Given the description of an element on the screen output the (x, y) to click on. 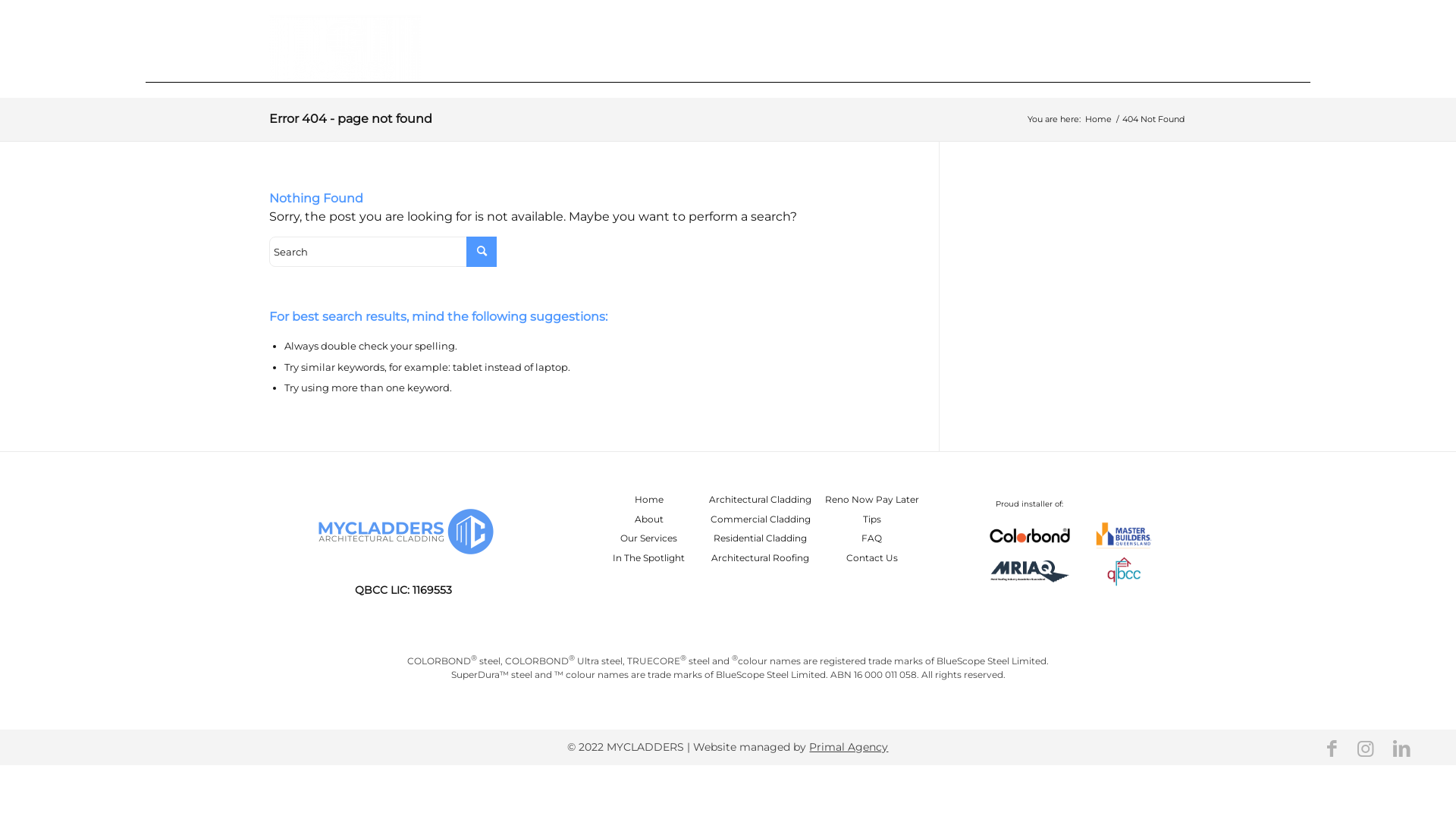
Commercial Cladding Element type: text (760, 518)
Architectural Roofing Element type: text (760, 557)
Resources Element type: text (1081, 45)
Gallery Element type: text (934, 45)
FAQ Element type: text (871, 537)
Home Element type: text (831, 45)
Contact Us Element type: text (871, 557)
About Element type: text (648, 518)
Reno Now Pay Later Element type: text (872, 499)
Our Services Element type: text (1000, 45)
Residential Cladding Element type: text (759, 537)
Primal Agency Element type: text (848, 746)
Home Element type: text (648, 499)
In The Spotlight Element type: text (648, 557)
Contact Us Element type: text (1153, 45)
Home Element type: text (1097, 119)
Tips Element type: text (871, 518)
mycladders-logo-blue Element type: hover (403, 531)
About Us Element type: text (882, 45)
Our Services Element type: text (648, 537)
Architectural Cladding Element type: text (760, 499)
